Given the description of an element on the screen output the (x, y) to click on. 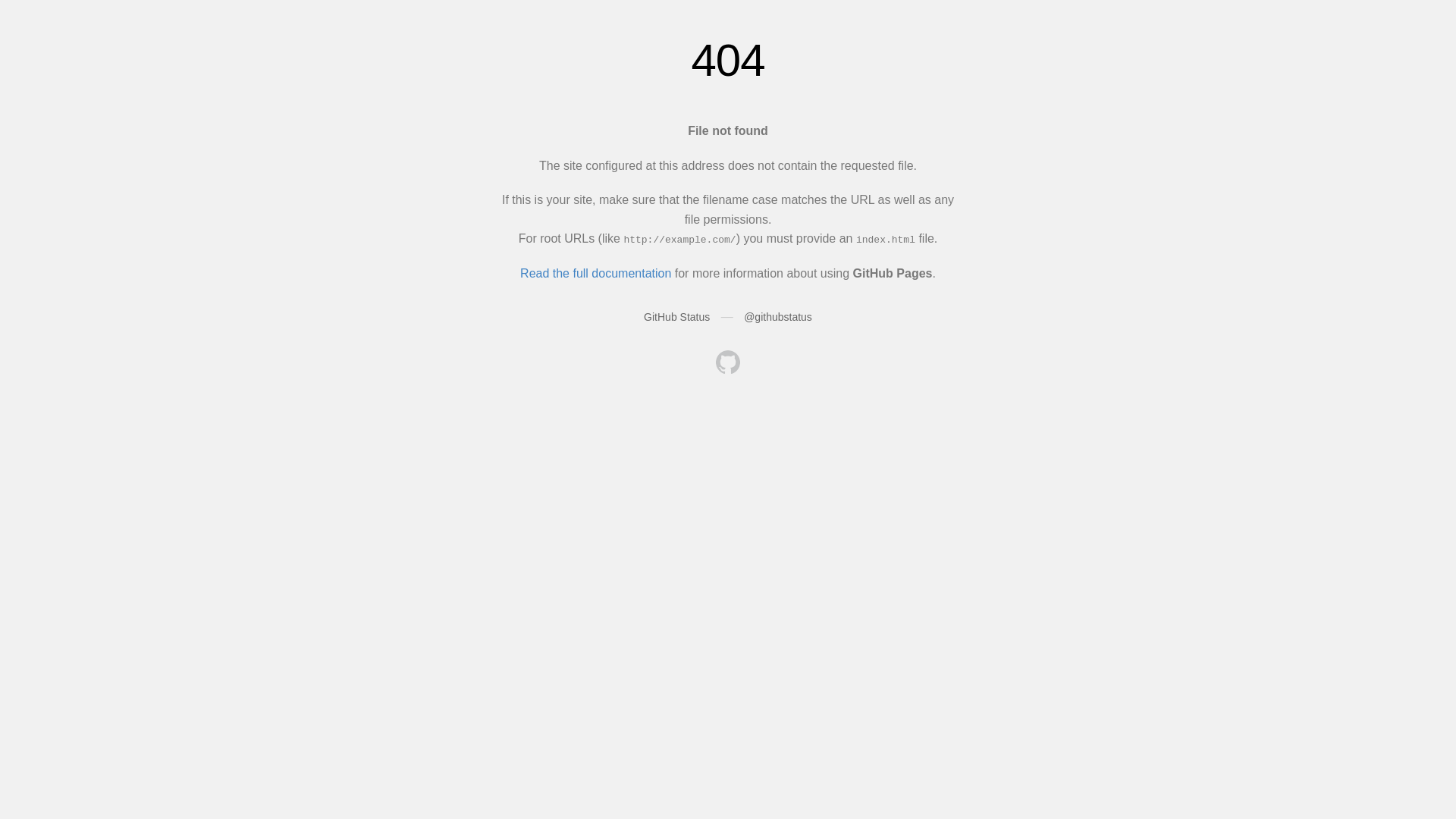
Read the full documentation Element type: text (595, 272)
GitHub Status Element type: text (676, 316)
@githubstatus Element type: text (777, 316)
